Given the description of an element on the screen output the (x, y) to click on. 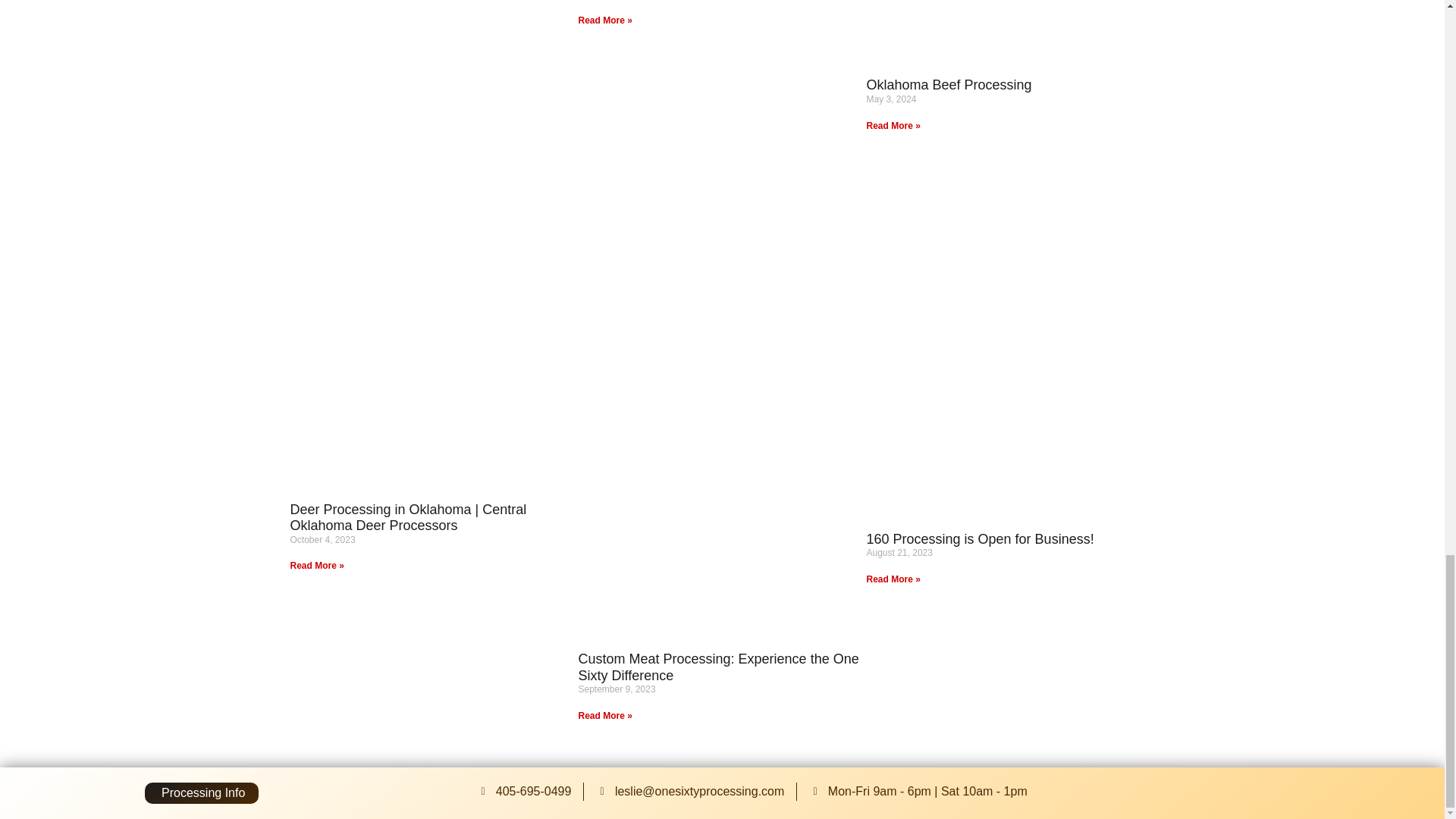
Oklahoma Beef Processing (948, 84)
